Given the description of an element on the screen output the (x, y) to click on. 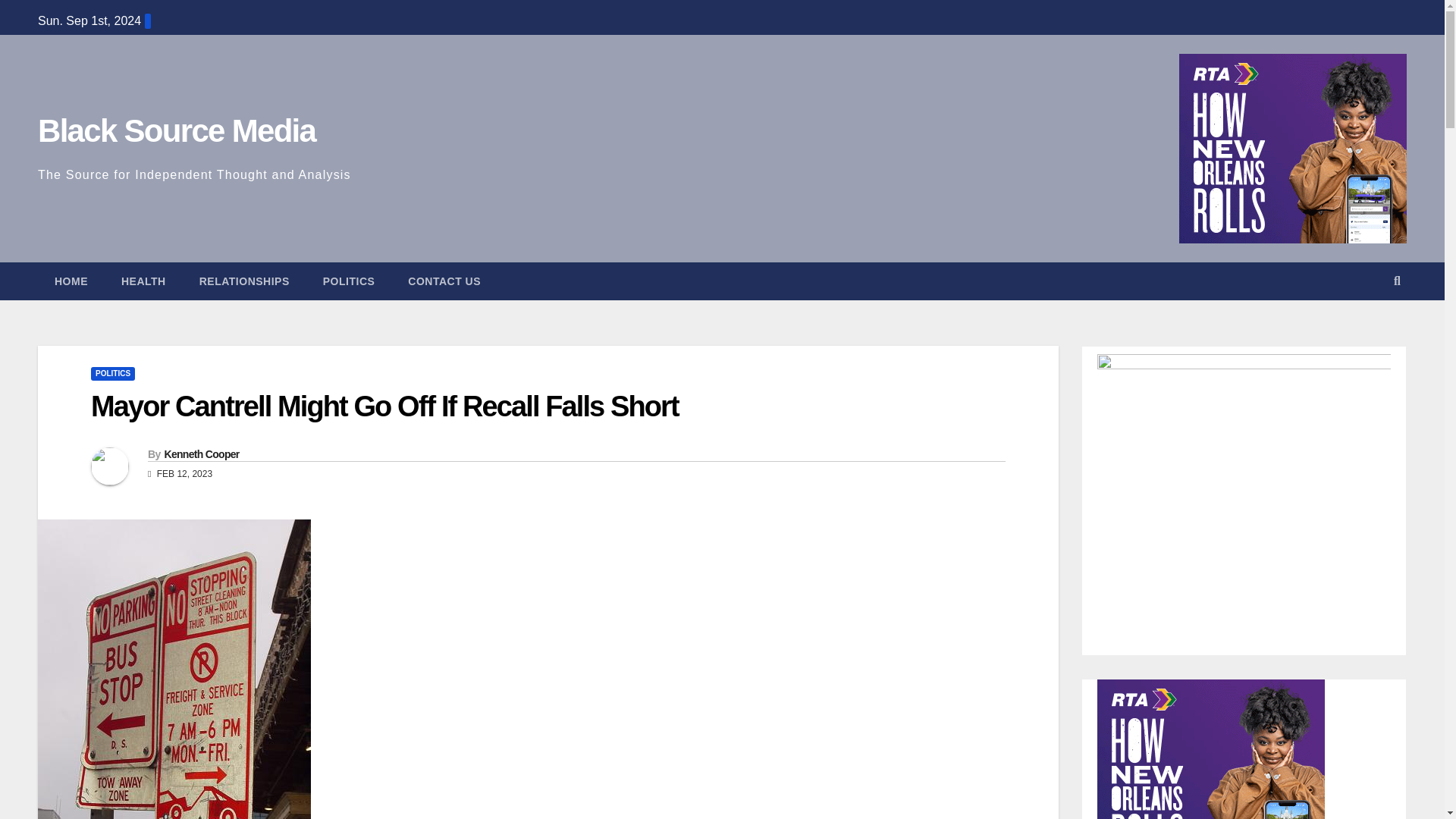
CONTACT US (444, 281)
Kenneth Cooper (200, 453)
Home (70, 281)
POLITICS (112, 373)
Black Source Media (176, 130)
Mayor Cantrell Might Go Off If Recall Falls Short (384, 406)
HEALTH (143, 281)
HOME (70, 281)
RELATIONSHIPS (244, 281)
